Given the description of an element on the screen output the (x, y) to click on. 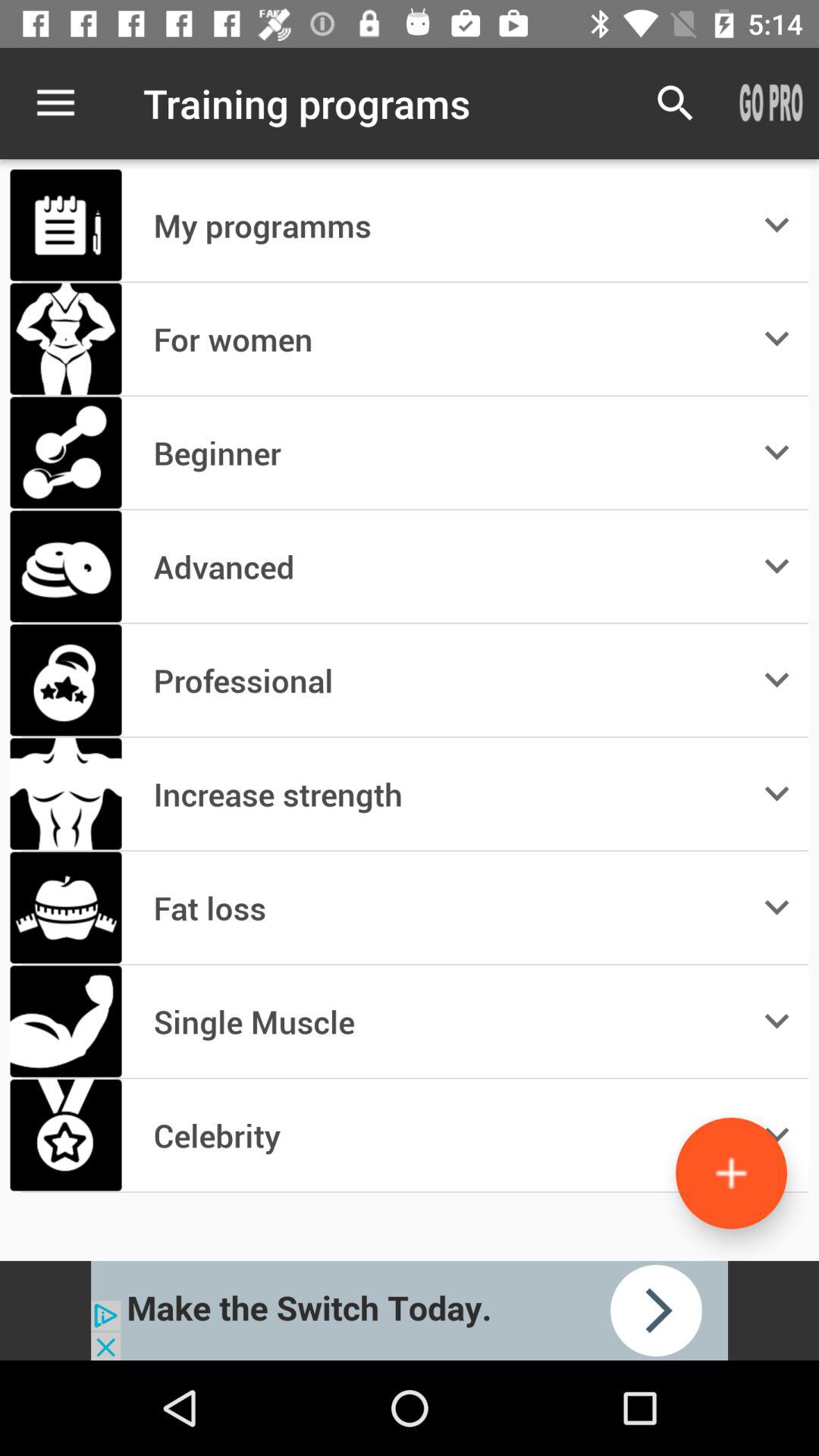
add post (731, 1173)
